Given the description of an element on the screen output the (x, y) to click on. 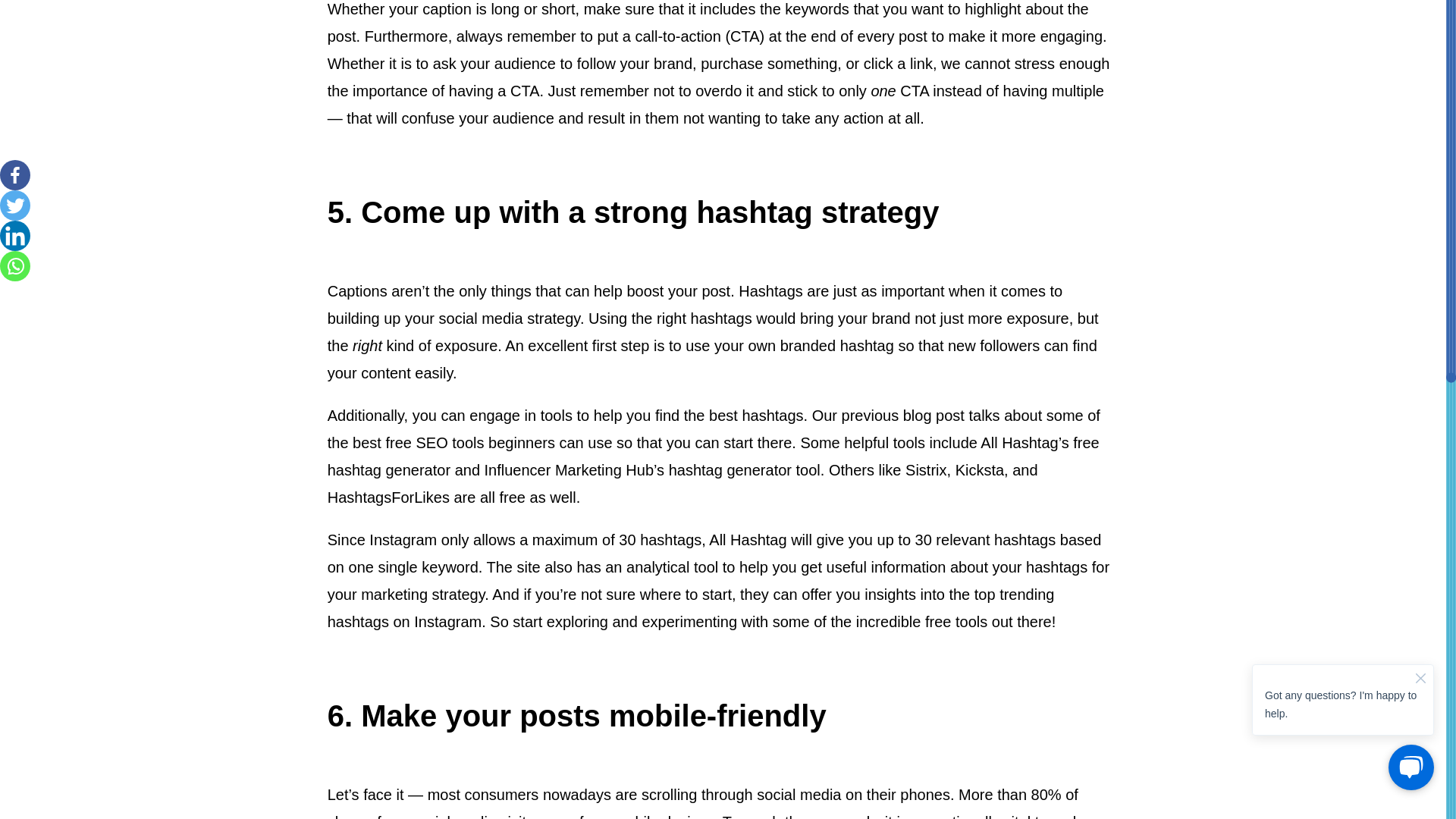
some of the best free SEO tools beginners can use (713, 429)
Kicksta (979, 469)
HashtagsForLikes (388, 497)
Sistrix (925, 469)
